Given the description of an element on the screen output the (x, y) to click on. 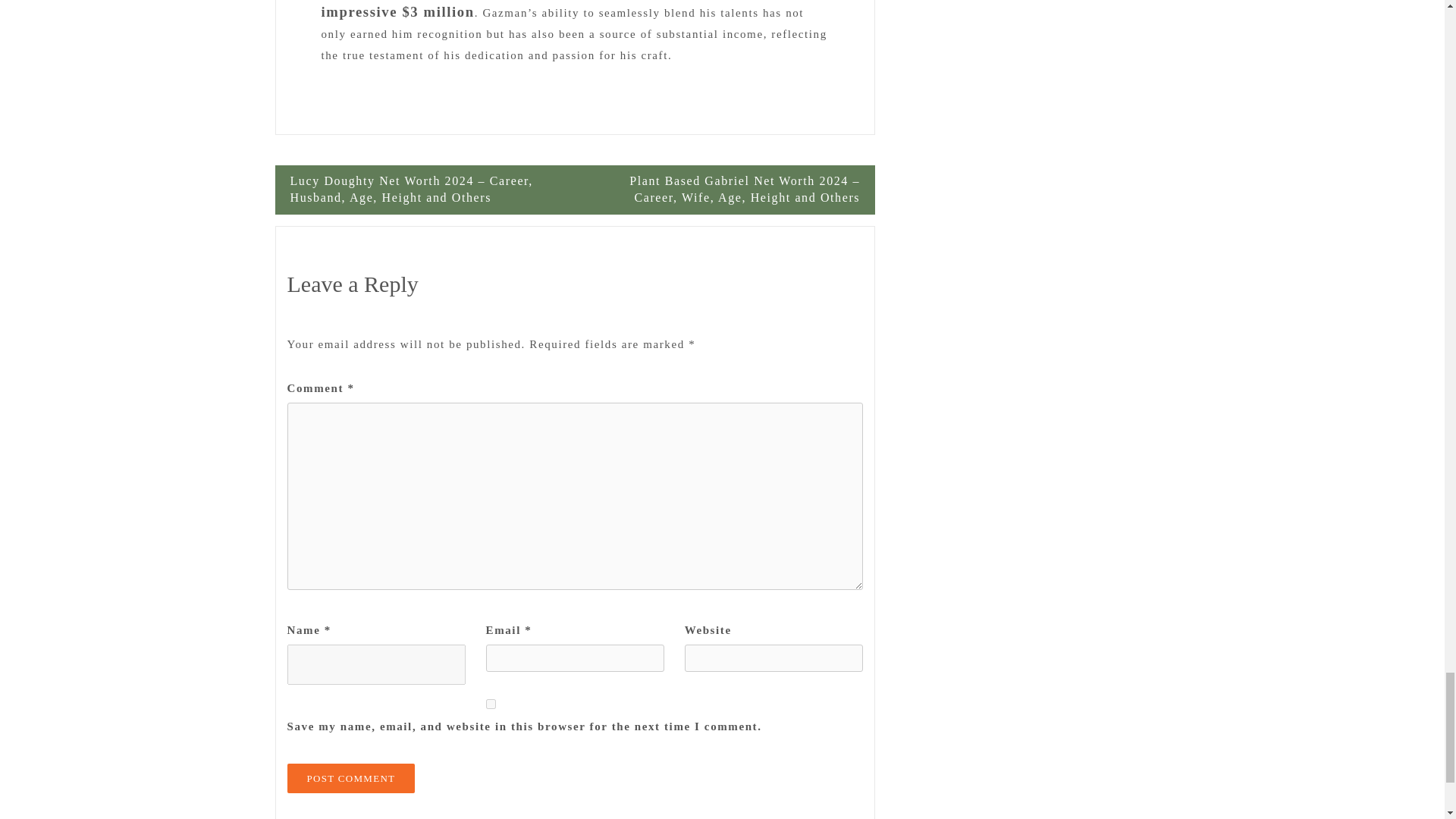
Post Comment (350, 778)
yes (491, 704)
Post Comment (350, 778)
